Given the description of an element on the screen output the (x, y) to click on. 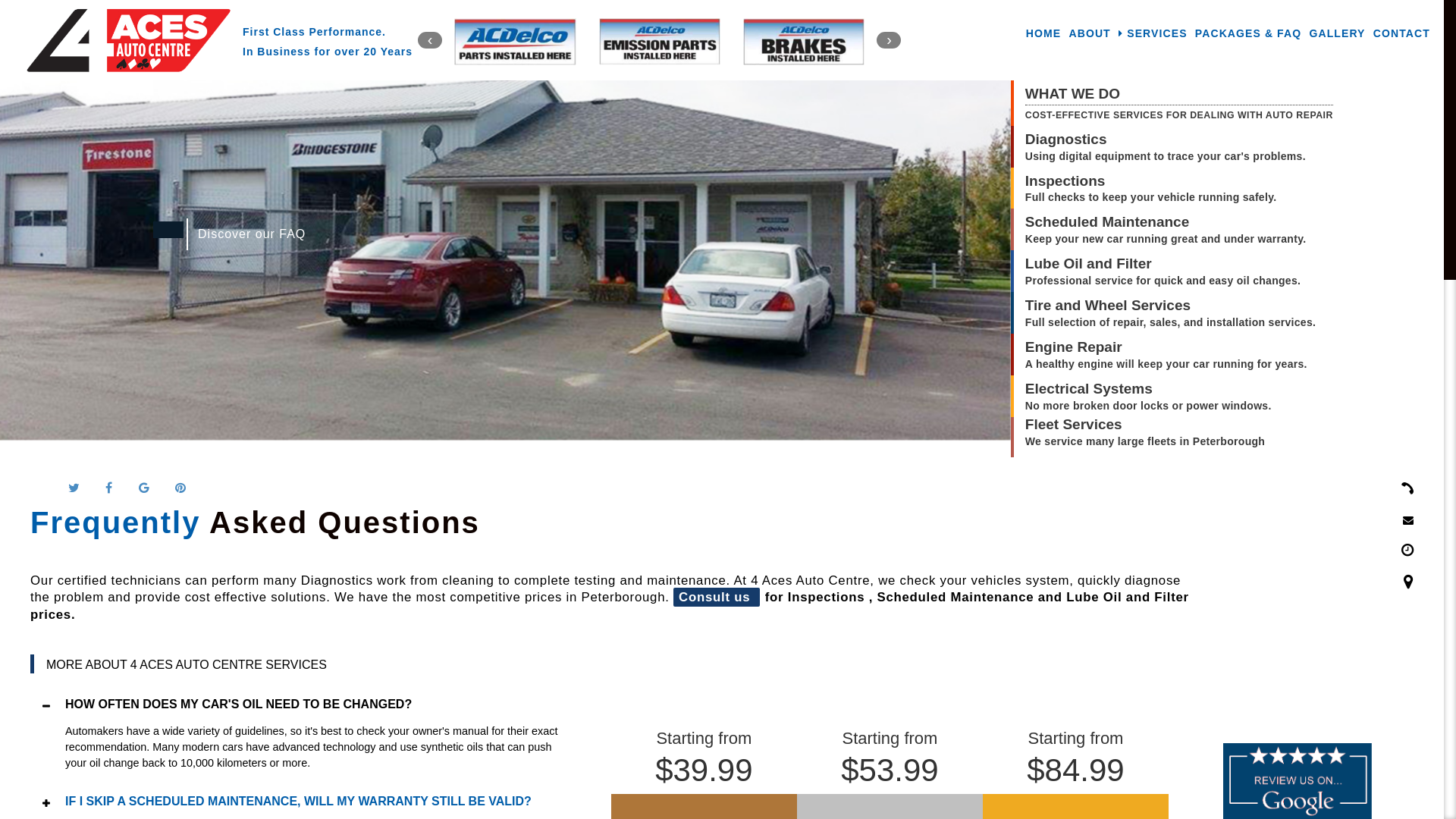
Lube Oil and Filter Element type: text (1162, 264)
 SERVICES Element type: text (1152, 33)
GALLERY Element type: text (1336, 33)
Consult us Element type: text (716, 596)
Tire and Wheel Services Element type: text (1170, 305)
Scheduled Maintenance Element type: text (1165, 222)
ABOUT Element type: text (1089, 33)
WHAT WE DO Element type: text (1179, 96)
Fleet Services Element type: text (1144, 425)
HOME Element type: text (1043, 33)
Engine Repair Element type: text (1166, 347)
Inspections Element type: text (1151, 181)
Diagnostics Element type: text (1165, 139)
PACKAGES & FAQ Element type: text (1248, 33)
CONTACT Element type: text (1401, 33)
Electrical Systems Element type: text (1148, 389)
HOW OFTEN DOES MY CAR'S OIL NEED TO BE CHANGED? Element type: text (317, 704)
